Given the description of an element on the screen output the (x, y) to click on. 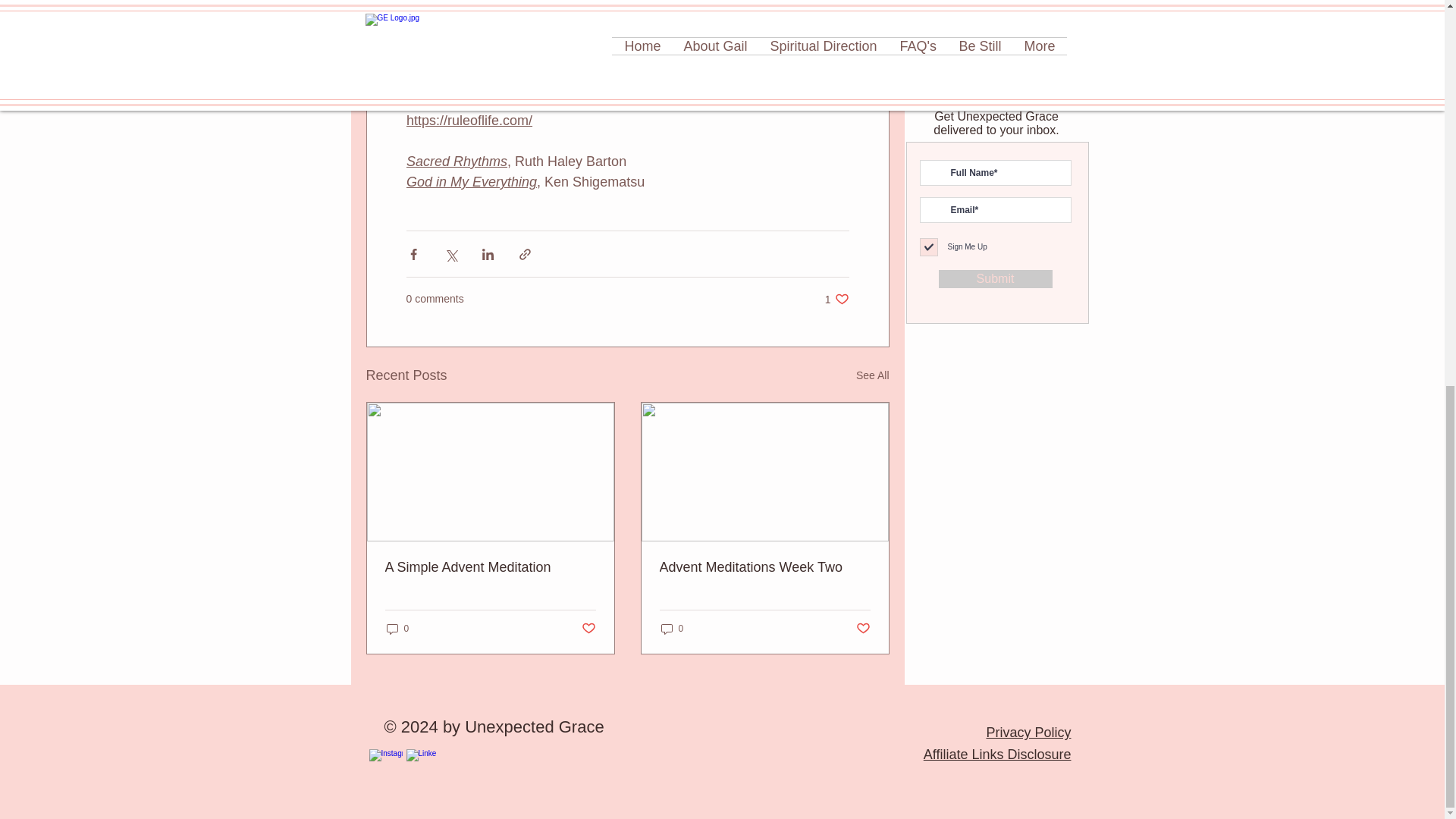
0 (397, 628)
Sacred Rhythms (456, 160)
See All (872, 375)
0 (672, 628)
Affiliate Links Disclosure (997, 754)
Advent Meditations Week Two (764, 567)
Post not marked as liked (862, 628)
Crafting a Rule of Life (472, 99)
God in My Everything (471, 181)
A Simple Advent Meditation (490, 567)
Privacy Policy (1027, 732)
Post not marked as liked (836, 298)
Submit (587, 628)
